Given the description of an element on the screen output the (x, y) to click on. 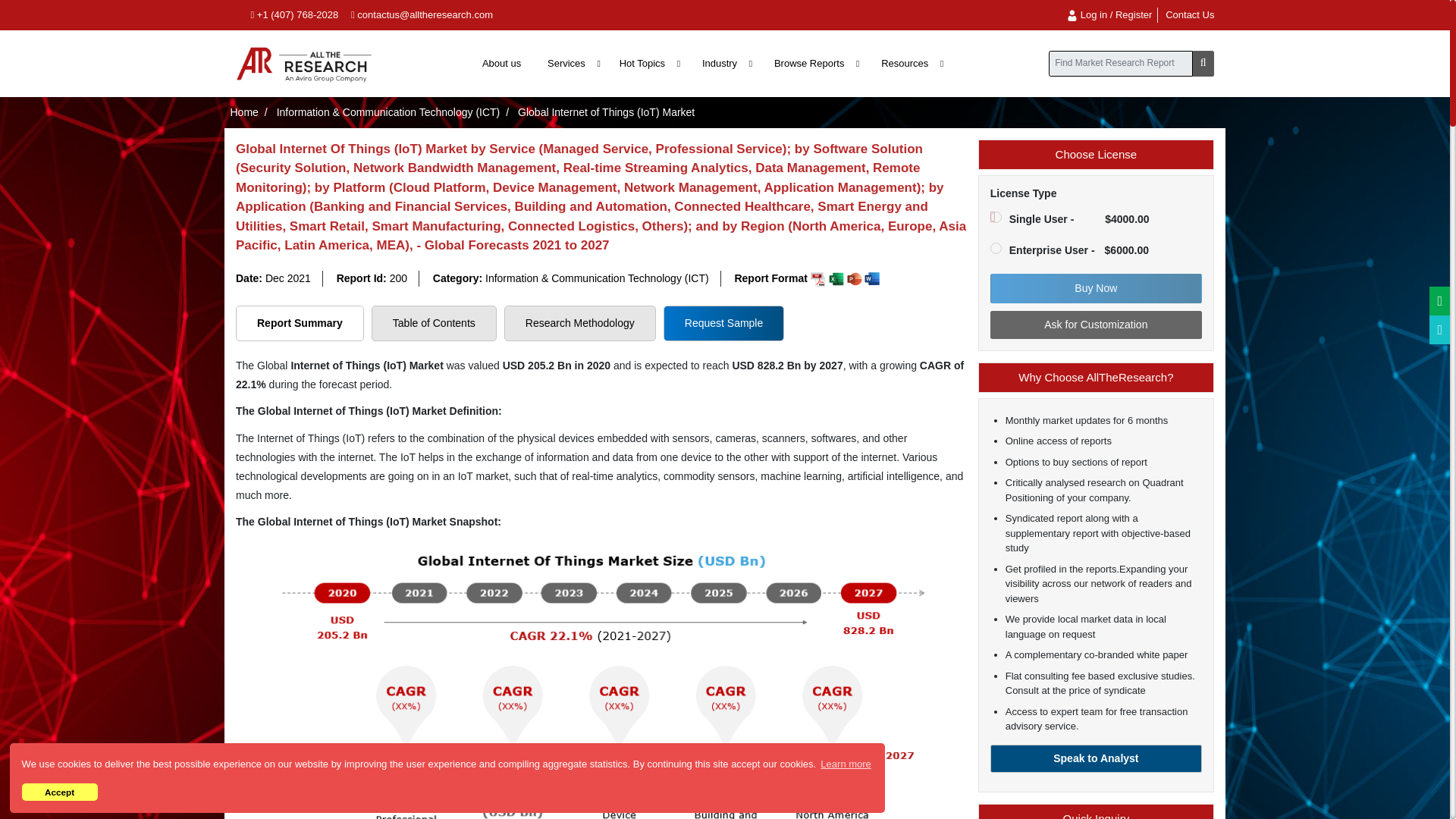
Accept (59, 791)
Learn more (845, 763)
Services (571, 62)
AllTheResearch (303, 62)
Contact Us (1190, 14)
About us (501, 62)
